Given the description of an element on the screen output the (x, y) to click on. 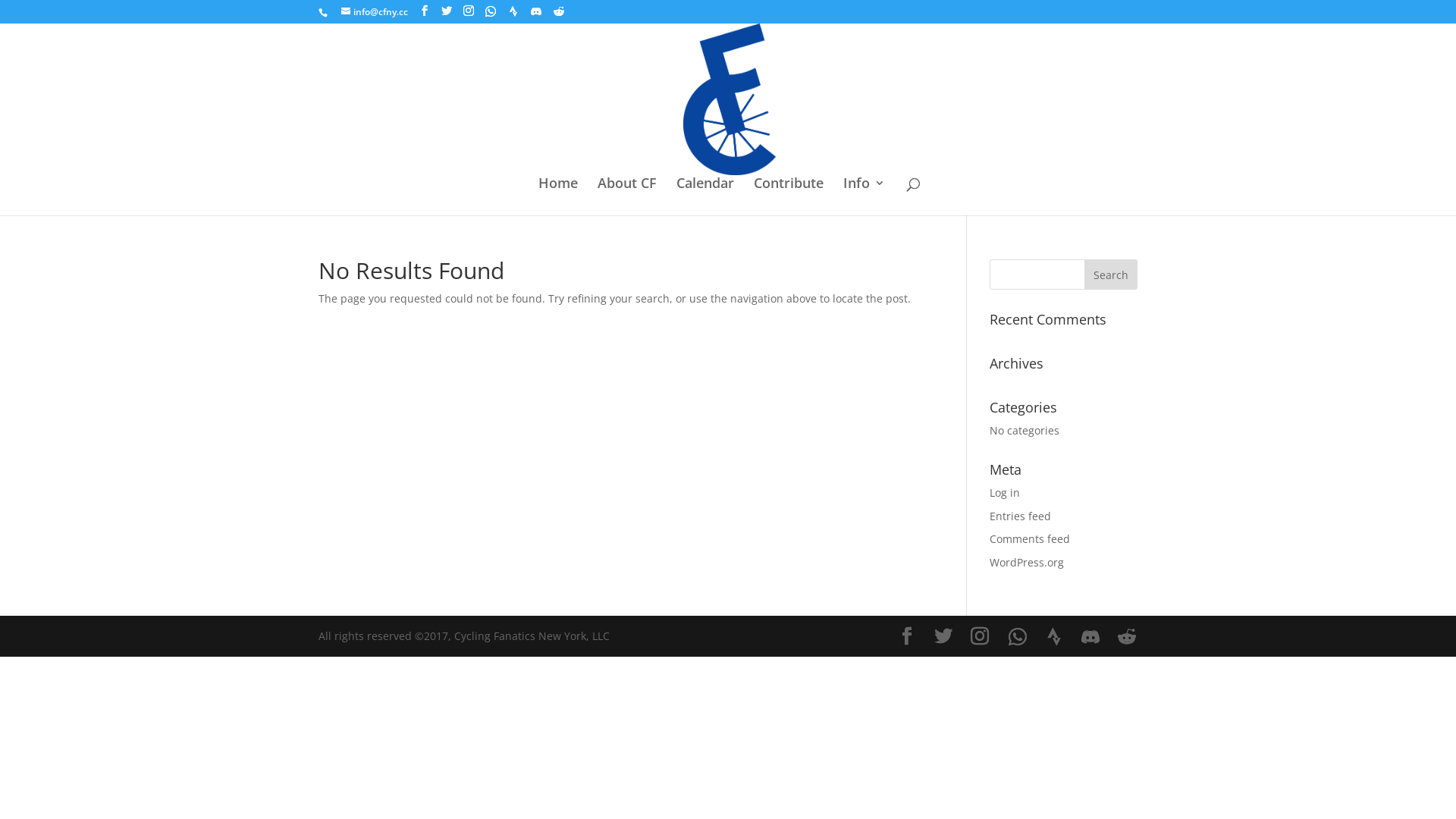
Home Element type: text (557, 196)
Entries feed Element type: text (1020, 515)
info@cfny.cc Element type: text (374, 11)
Comments feed Element type: text (1029, 538)
WordPress.org Element type: text (1026, 562)
Info Element type: text (863, 196)
About CF Element type: text (626, 196)
Calendar Element type: text (705, 196)
Contribute Element type: text (788, 196)
Log in Element type: text (1004, 492)
Search Element type: text (1110, 274)
